Given the description of an element on the screen output the (x, y) to click on. 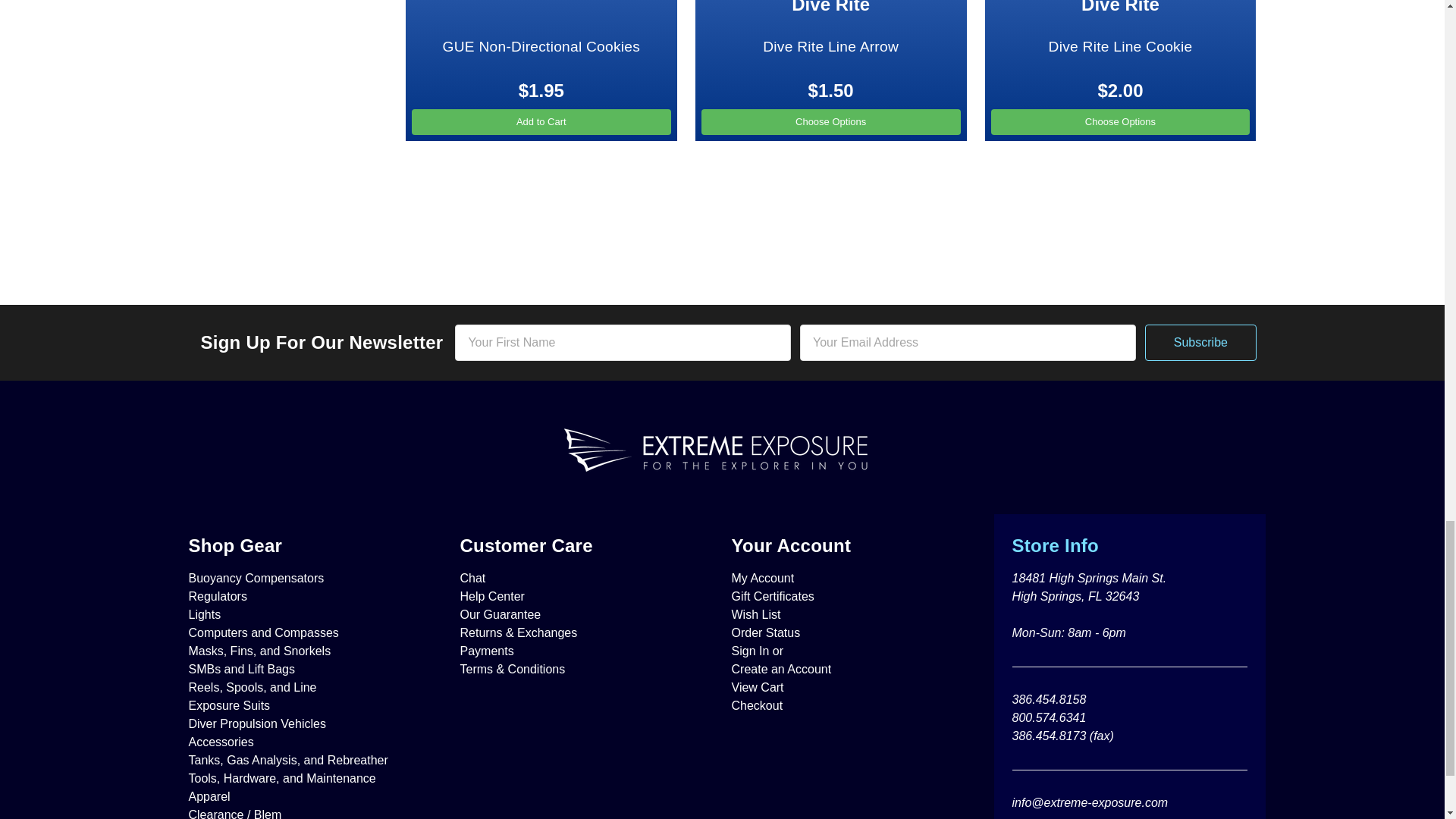
Subscribe (1199, 342)
Extreme Exposure (722, 450)
